Given the description of an element on the screen output the (x, y) to click on. 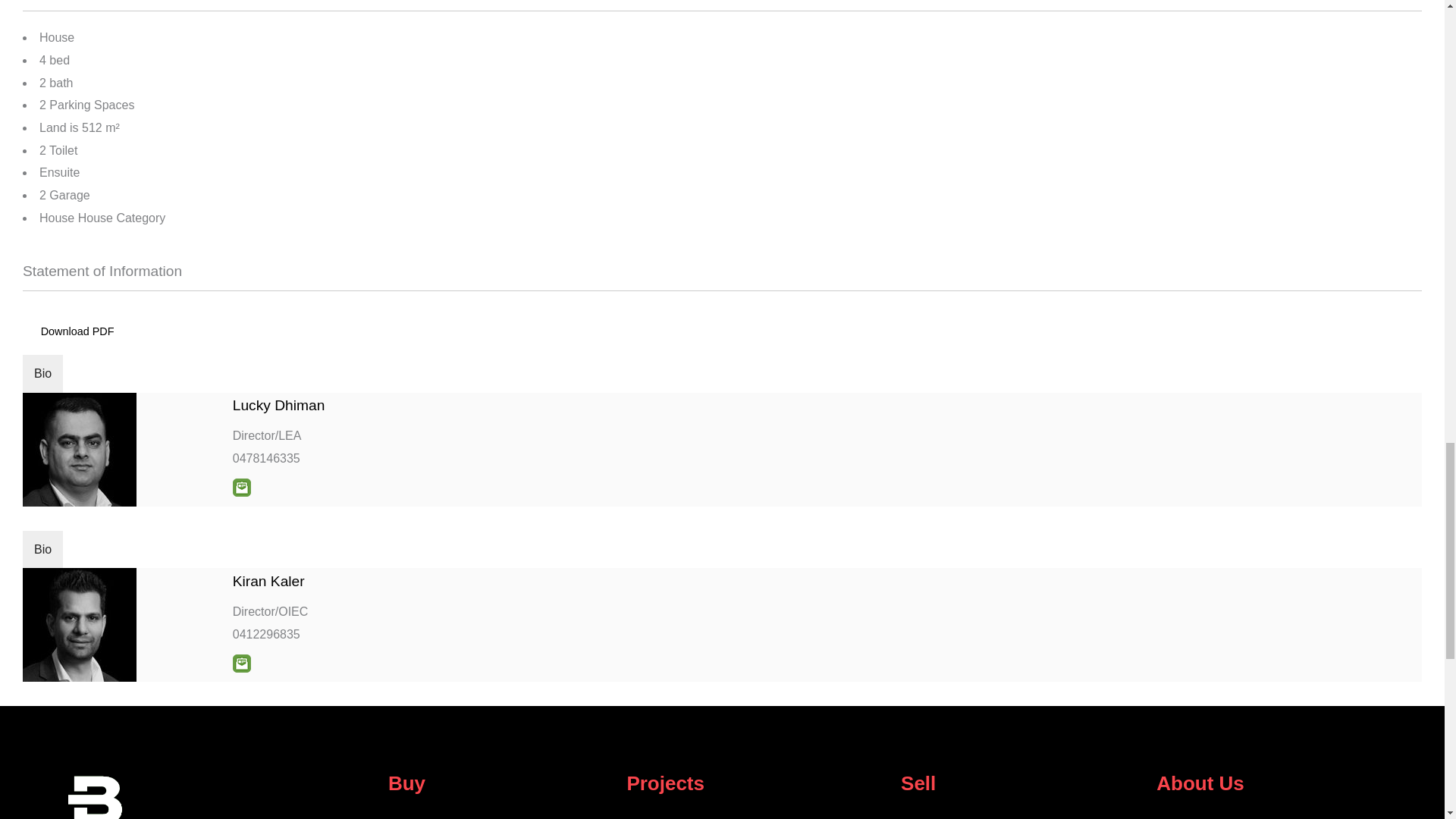
Download PDF (77, 331)
Lucky Dhiman (278, 405)
Recent Listing (499, 816)
Commercial Projects (755, 816)
Contact Lucky Dhiman by Email (241, 487)
Email (241, 487)
Kiran Kaler (268, 580)
Contact Kiran Kaler by Email (241, 663)
Email (241, 663)
